Given the description of an element on the screen output the (x, y) to click on. 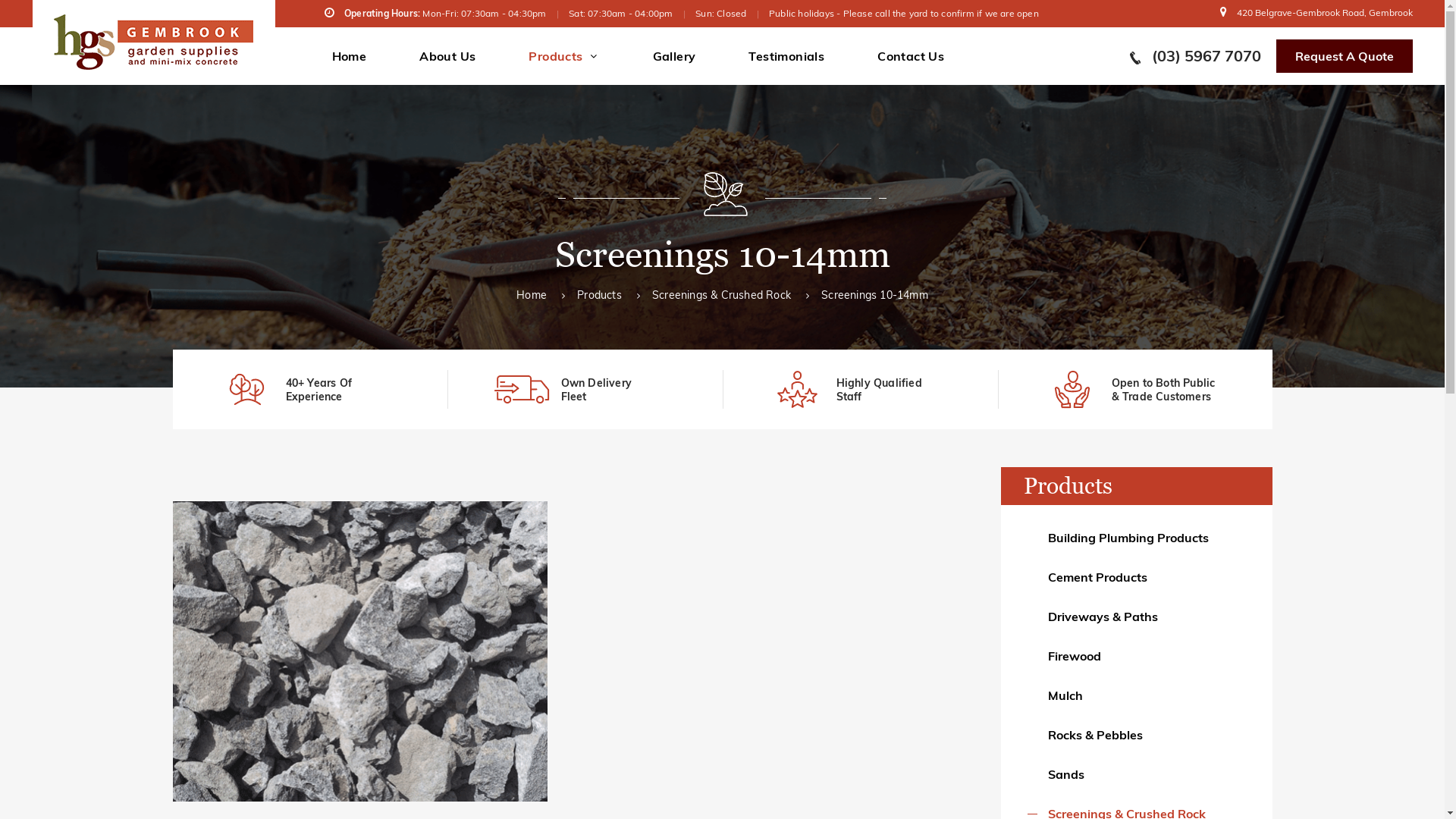
Sands Element type: text (1135, 773)
Driveways & Paths Element type: text (1135, 616)
Screenings & Crushed Rock Element type: text (721, 294)
Building Plumbing Products Element type: text (1135, 537)
Home Element type: text (531, 294)
About Us Element type: text (447, 56)
Products Element type: text (599, 294)
(03) 5967 7070 Element type: text (1195, 55)
Firewood Element type: text (1135, 655)
Contact Us Element type: text (910, 56)
Products Element type: text (563, 56)
Rocks & Pebbles Element type: text (1135, 734)
Cement Products Element type: text (1135, 576)
Testimonials Element type: text (786, 56)
Mulch Element type: text (1135, 695)
Gallery Element type: text (674, 56)
Request A Quote Element type: text (1343, 55)
Home Element type: text (349, 56)
